Given the description of an element on the screen output the (x, y) to click on. 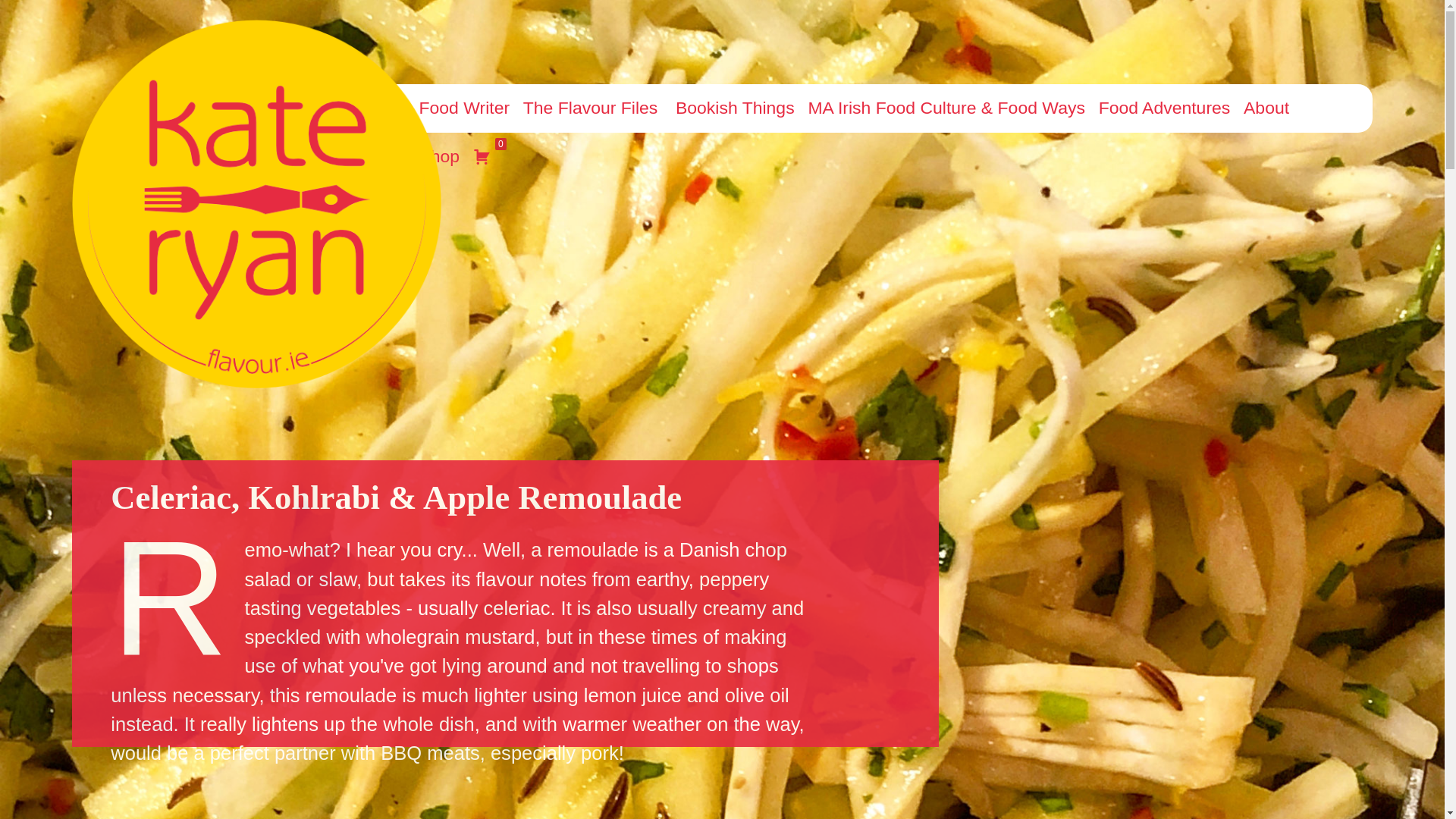
About (1264, 108)
Food Adventures (1162, 108)
Bookish Things (732, 108)
Shop (437, 156)
Food Writer (462, 108)
The Flavour Files (590, 108)
